Given the description of an element on the screen output the (x, y) to click on. 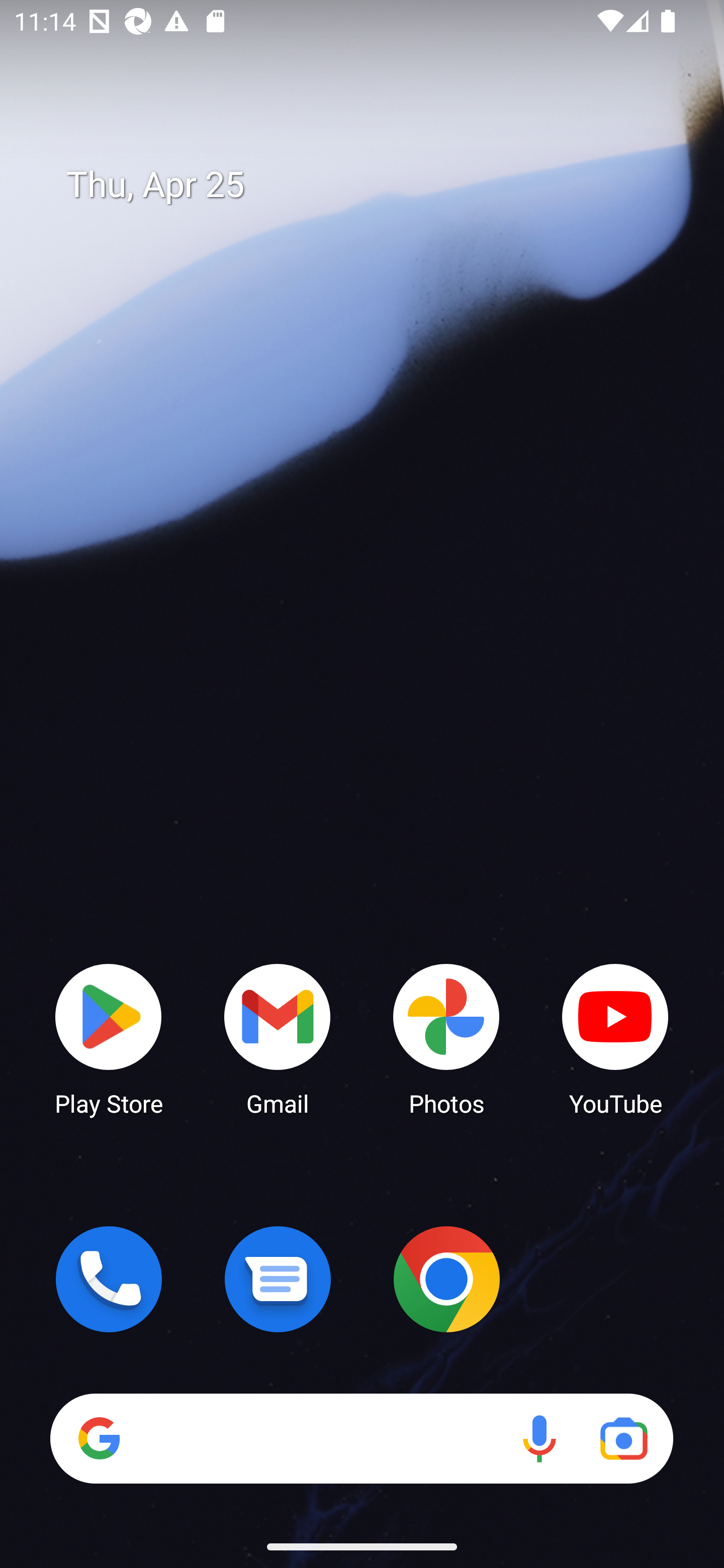
Thu, Apr 25 (375, 184)
Play Store (108, 1038)
Gmail (277, 1038)
Photos (445, 1038)
YouTube (615, 1038)
Phone (108, 1279)
Messages (277, 1279)
Chrome (446, 1279)
Search Voice search Google Lens (361, 1438)
Voice search (539, 1438)
Google Lens (623, 1438)
